Given the description of an element on the screen output the (x, y) to click on. 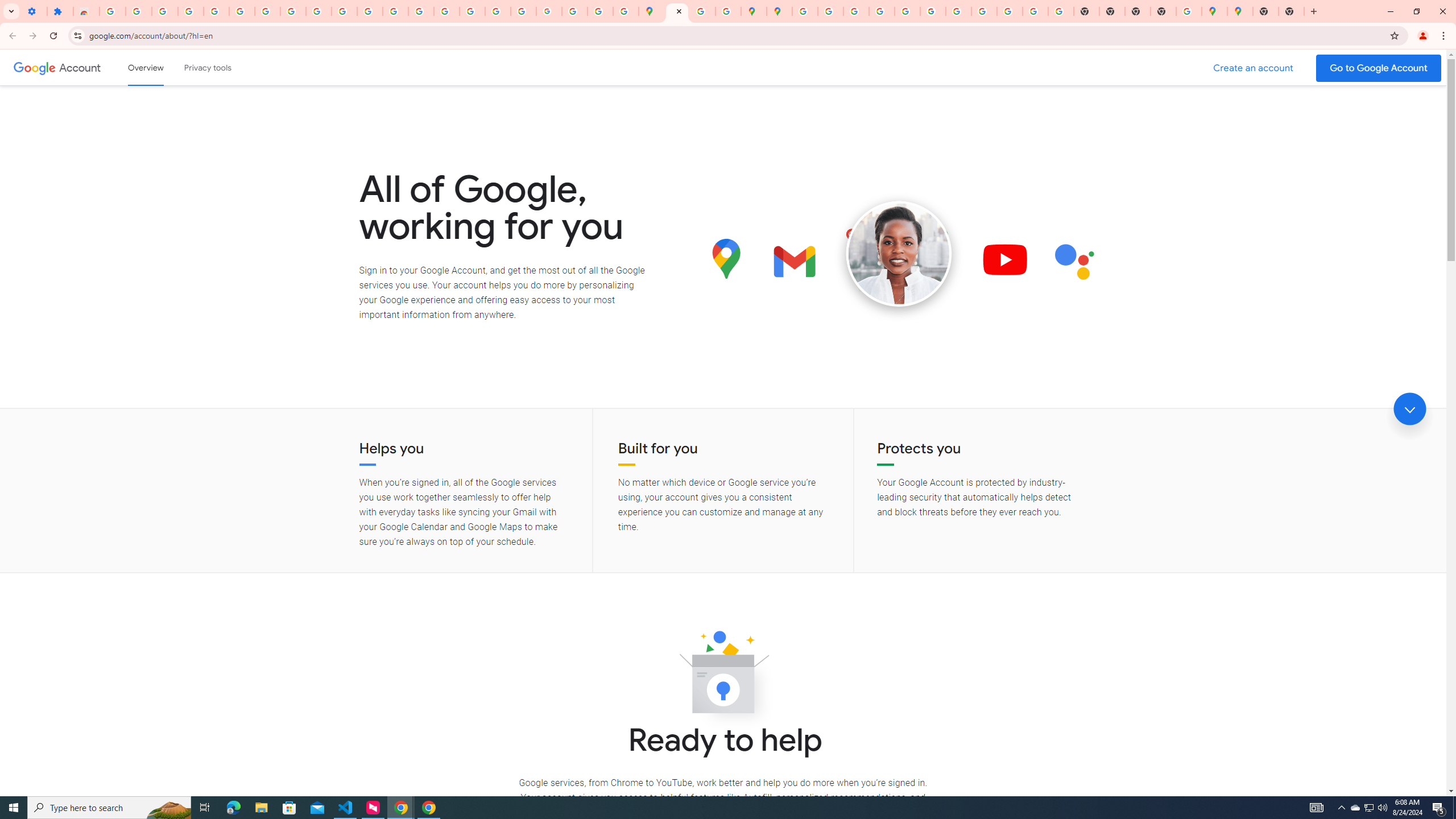
Sign in - Google Accounts (216, 11)
Privacy Help Center - Policies Help (446, 11)
Google Maps (1213, 11)
Create your Google Account (702, 11)
Skip to Content (162, 65)
Google Account (80, 67)
